Given the description of an element on the screen output the (x, y) to click on. 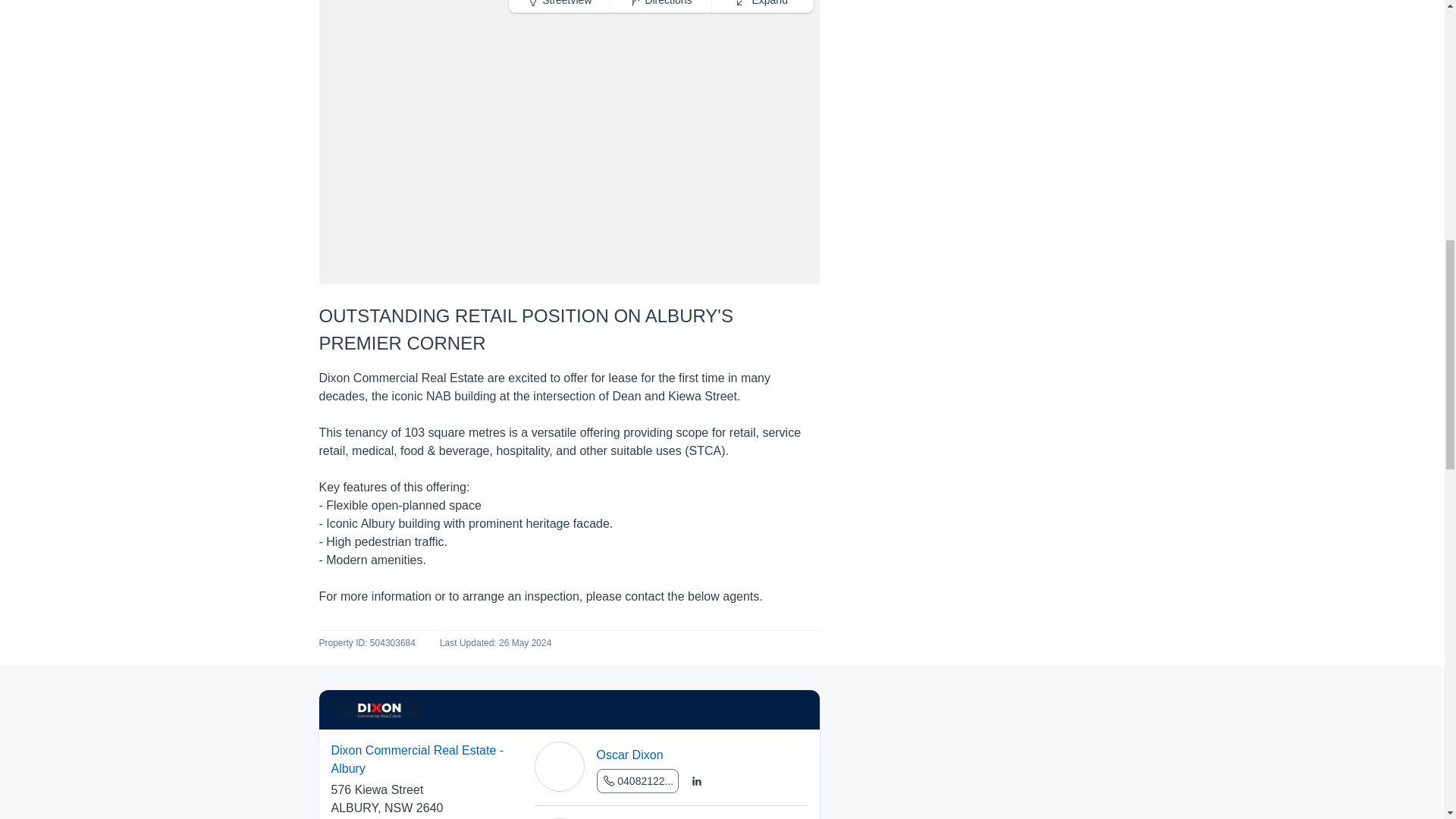
Streetview (560, 6)
Dixon Commercial Real Estate - Albury (422, 760)
Expand (761, 6)
Directions (660, 6)
